Given the description of an element on the screen output the (x, y) to click on. 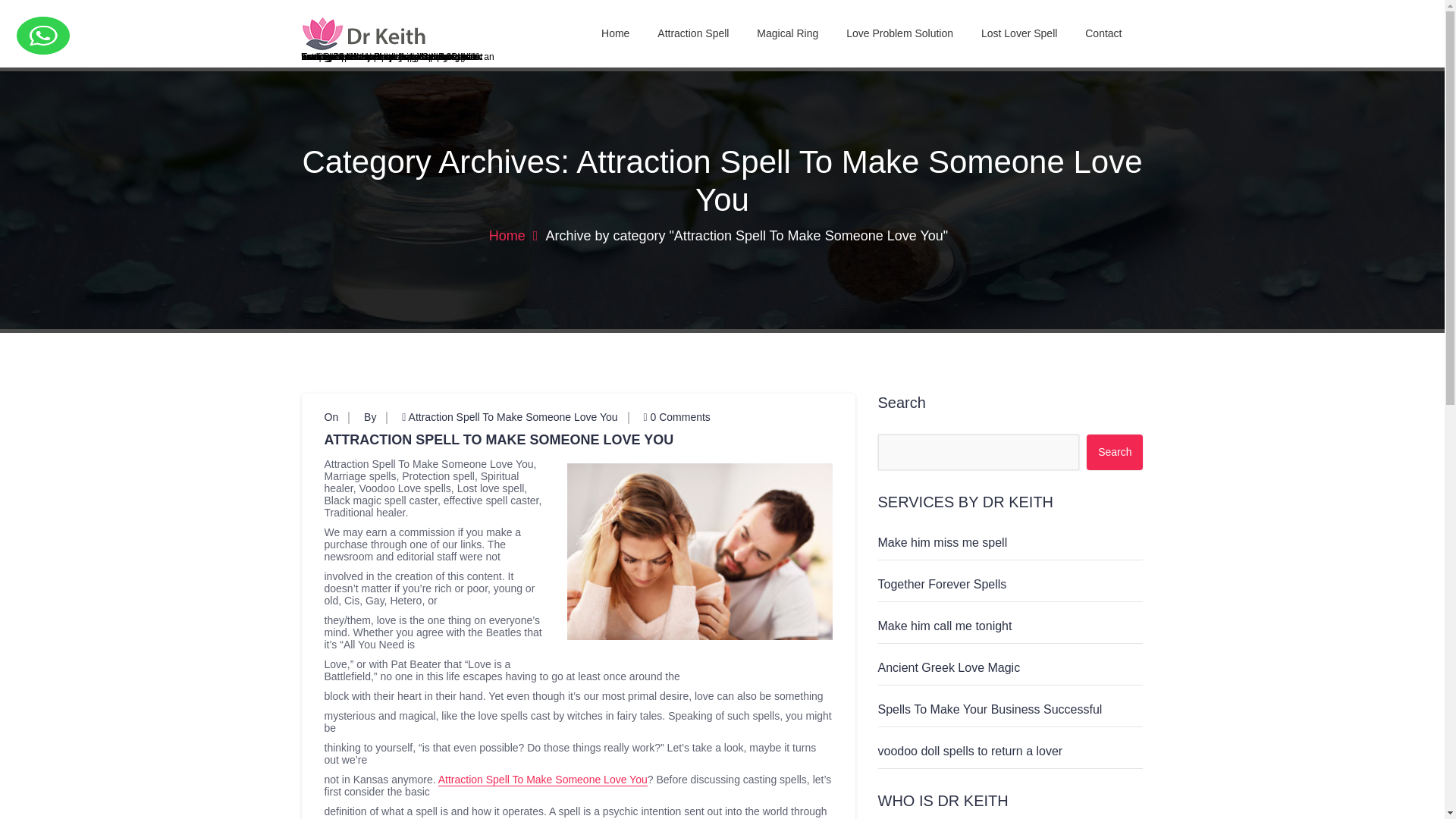
Home (615, 33)
Magical Ring (786, 33)
Make him call me tonight (944, 625)
Attraction Spell To Make Someone Love You (542, 779)
voodoo doll spells to return a lover (969, 750)
Magical Ring (786, 33)
Lost Lover Spell (1019, 33)
Lost Lover Spell (1019, 33)
0 Comments (676, 417)
Search (1114, 452)
